Given the description of an element on the screen output the (x, y) to click on. 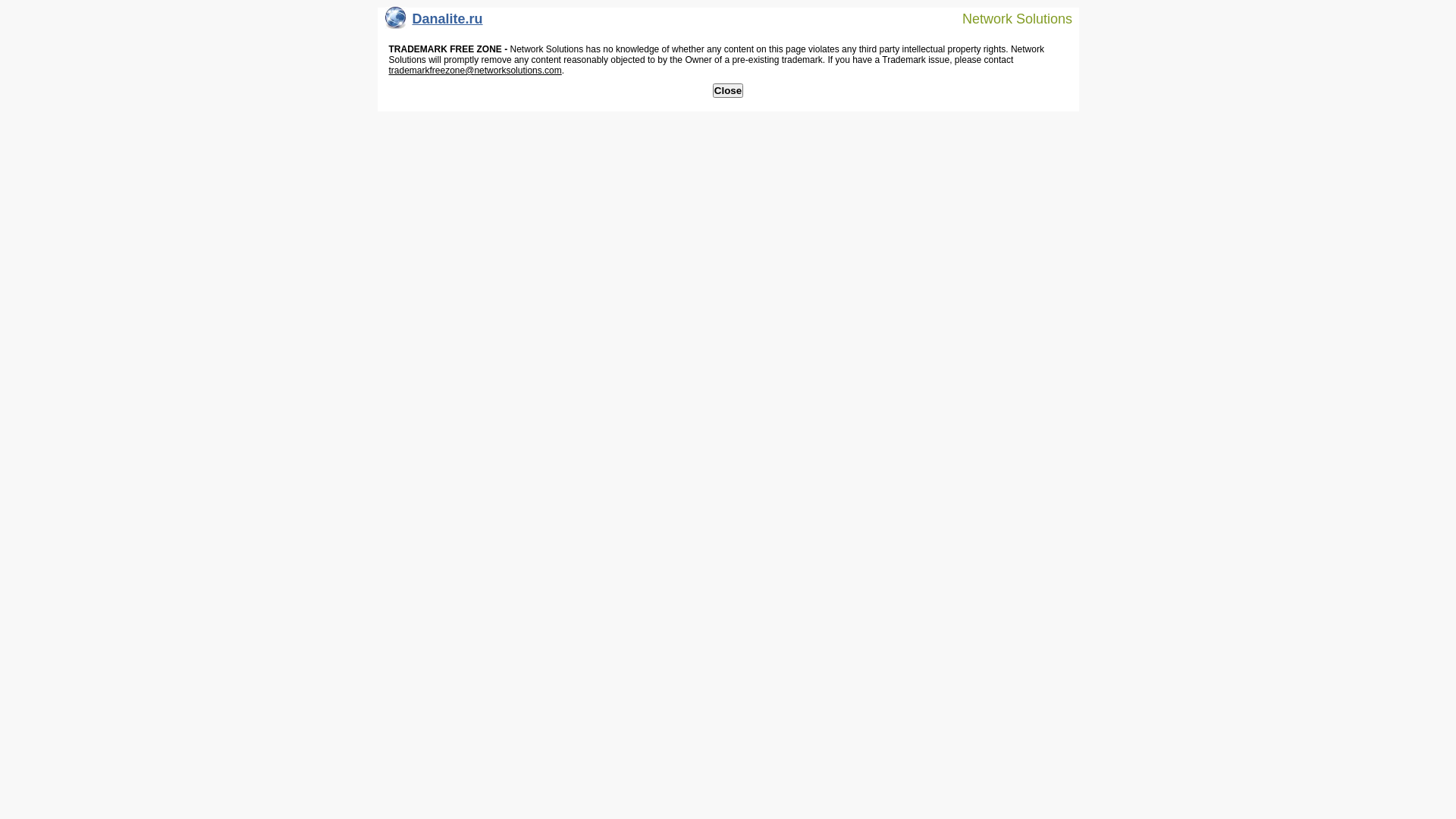
Close Element type: text (727, 90)
trademarkfreezone@networksolutions.com Element type: text (474, 70)
Network Solutions Element type: text (1007, 17)
Danalite.ru Element type: text (434, 21)
